Given the description of an element on the screen output the (x, y) to click on. 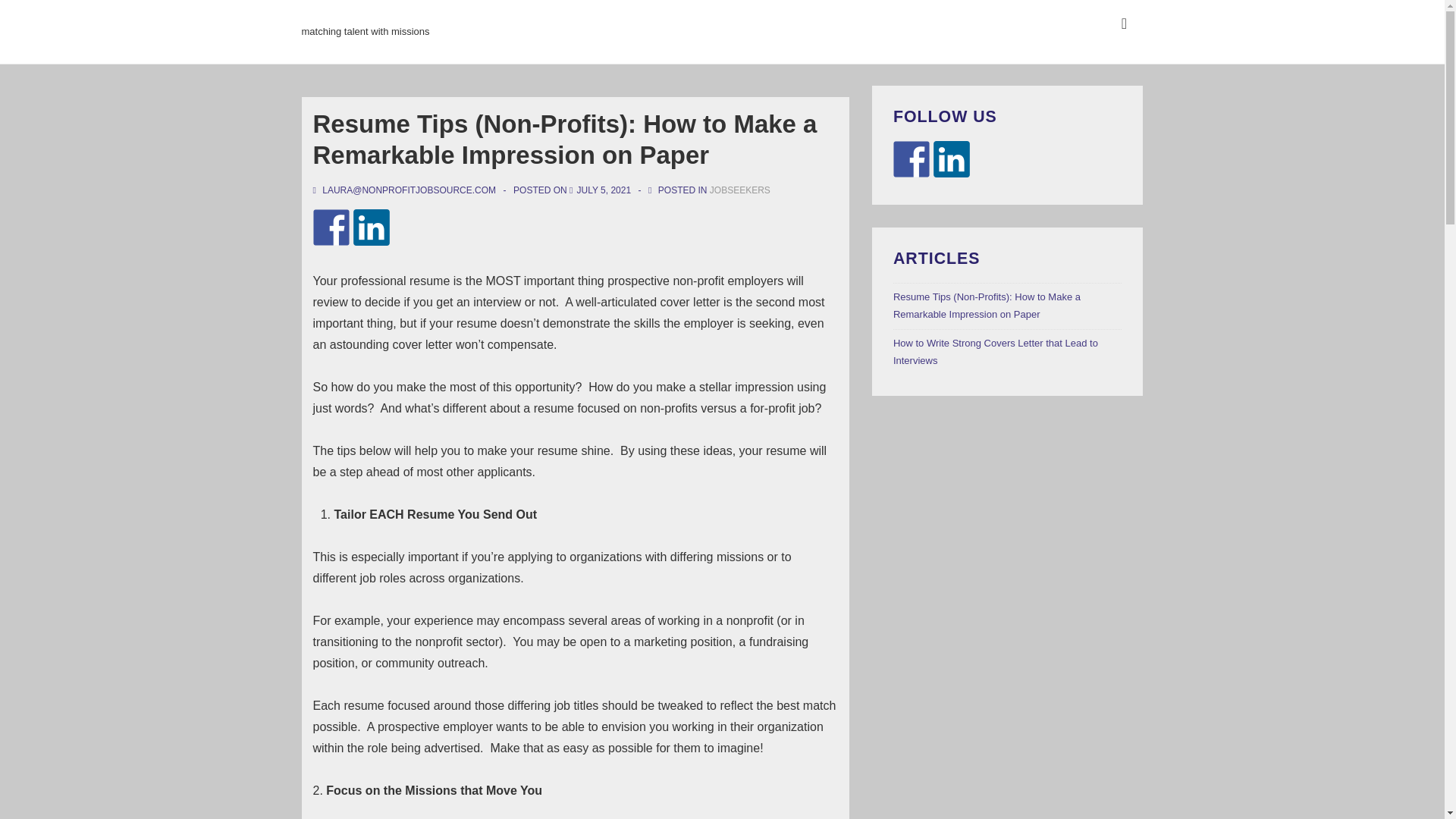
Find us on Linkedin (951, 158)
JOBSEEKERS (740, 190)
MENU (1123, 23)
Share on Facebook (331, 227)
Share on Linkedin (371, 227)
Follow us on Facebook (911, 158)
How to Write Strong Covers Letter that Lead to Interviews (995, 351)
JULY 5, 2021 (603, 190)
